Given the description of an element on the screen output the (x, y) to click on. 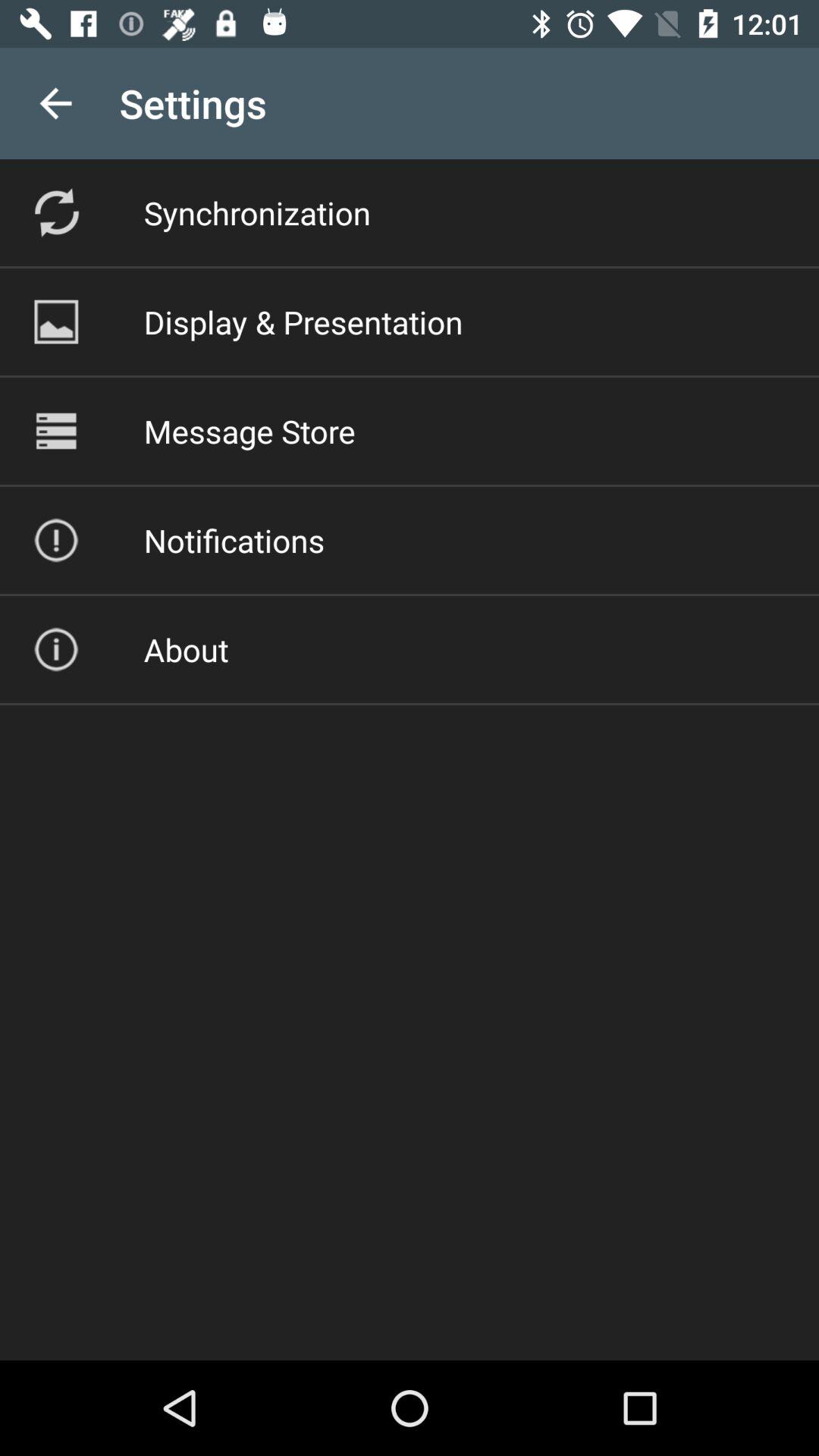
turn off display & presentation (302, 321)
